Given the description of an element on the screen output the (x, y) to click on. 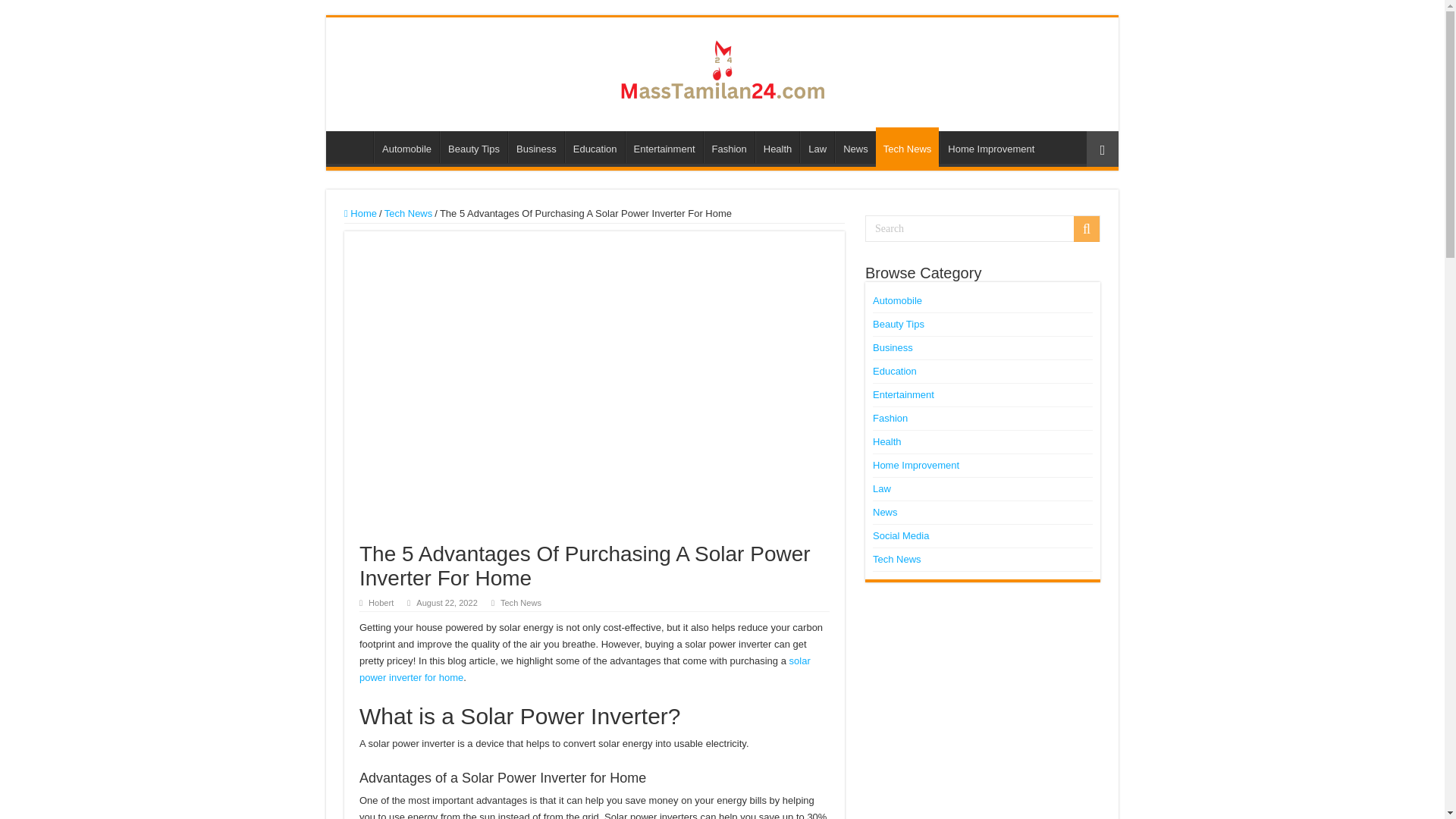
Business (536, 146)
Education (594, 146)
News (855, 146)
Beauty Tips (472, 146)
Tech News (408, 213)
Masstamilan24.com (721, 71)
Law (816, 146)
Tech News (907, 147)
Tech News (520, 602)
solar power inverter for home (584, 669)
Home Improvement (990, 146)
Health (777, 146)
Fashion (728, 146)
Entertainment (664, 146)
Home (360, 213)
